Given the description of an element on the screen output the (x, y) to click on. 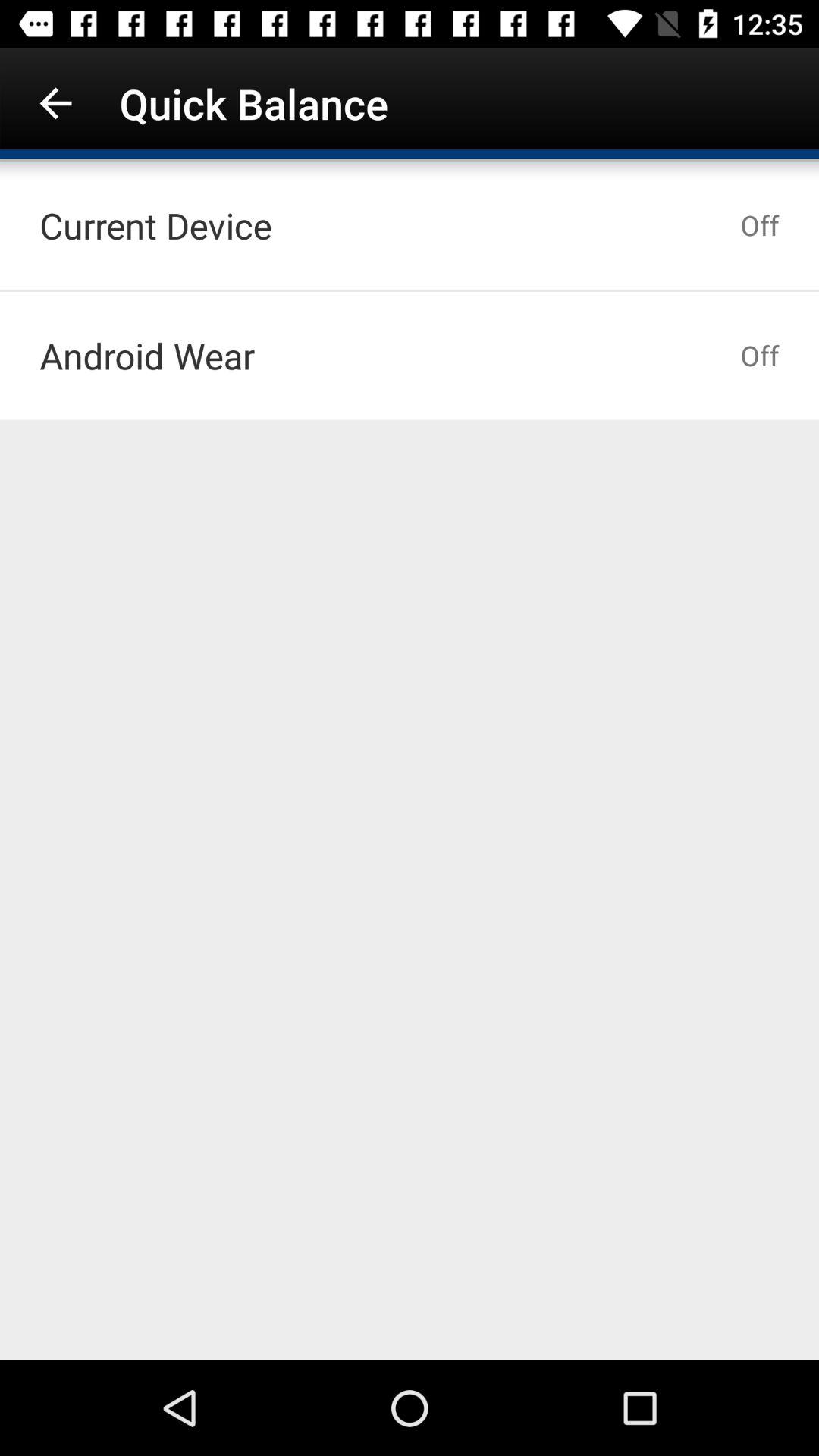
turn off the item next to the quick balance app (55, 103)
